Given the description of an element on the screen output the (x, y) to click on. 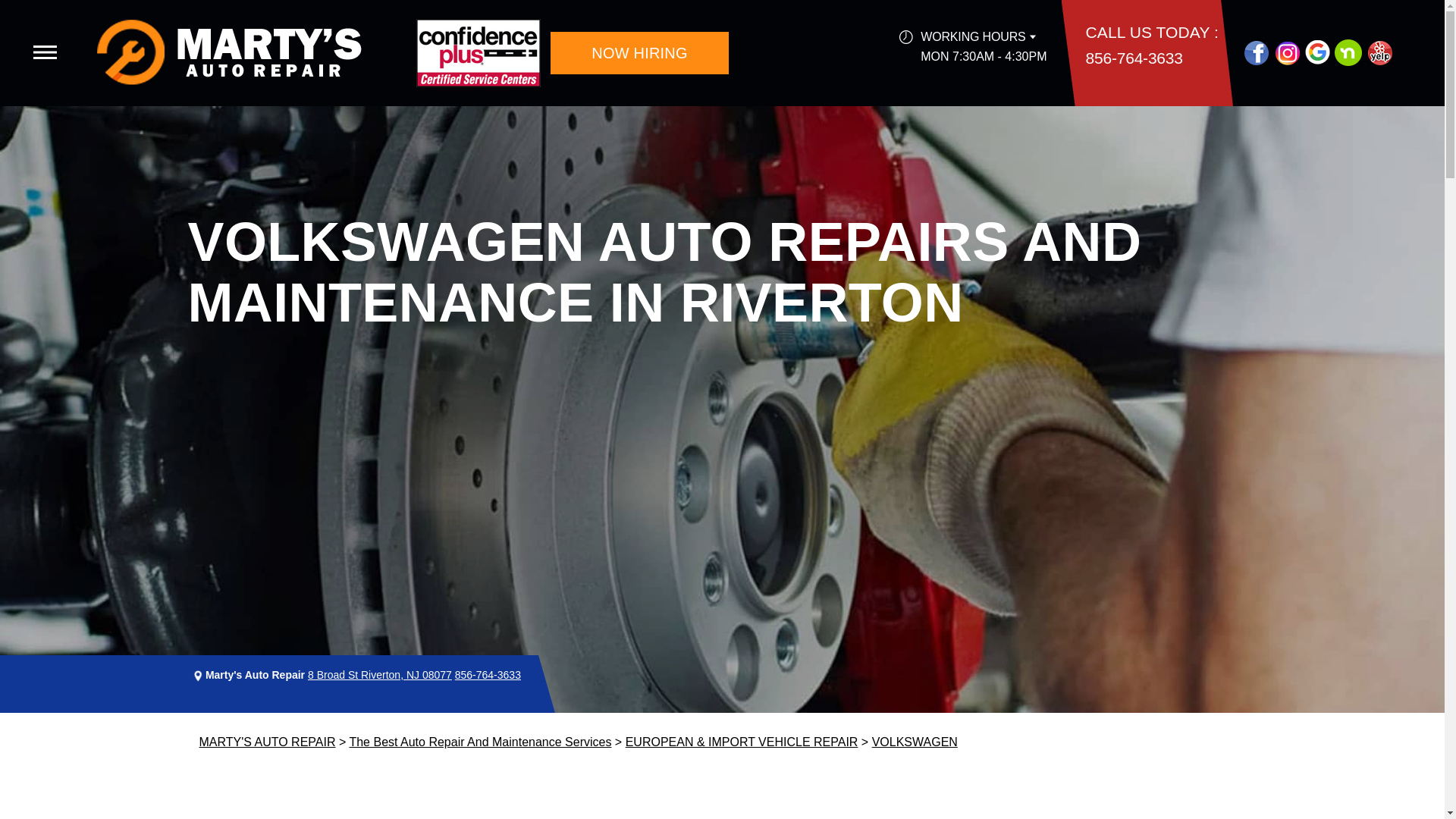
8 Broad St Riverton, NJ 08077 (379, 674)
856-764-3633 (1134, 57)
open-navigation-button (44, 51)
NOW HIRING (639, 52)
856-764-3633 (487, 674)
